Given the description of an element on the screen output the (x, y) to click on. 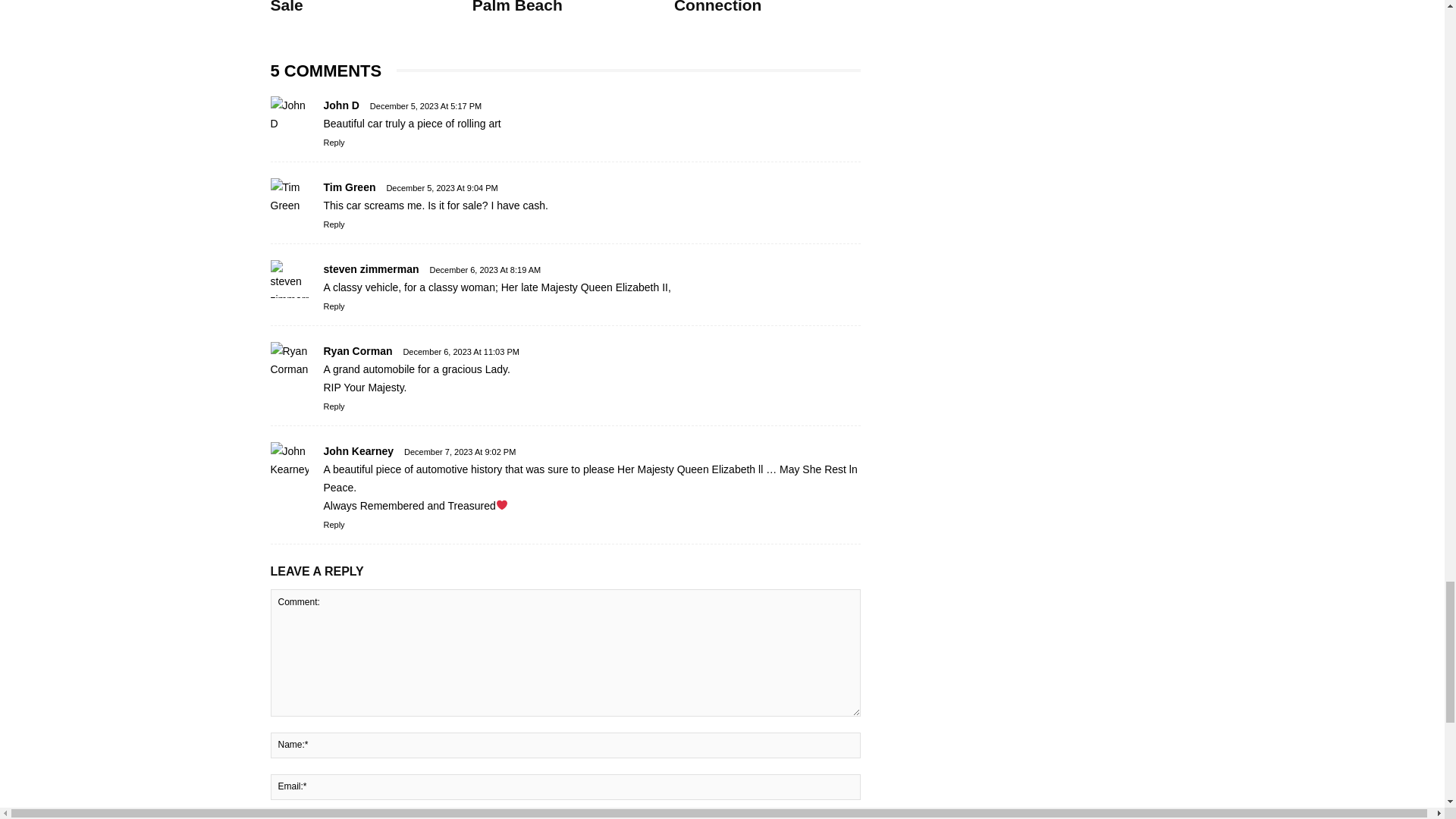
1991 Acura NSX Owned by Ayrton Senna for Sale (358, 6)
